Given the description of an element on the screen output the (x, y) to click on. 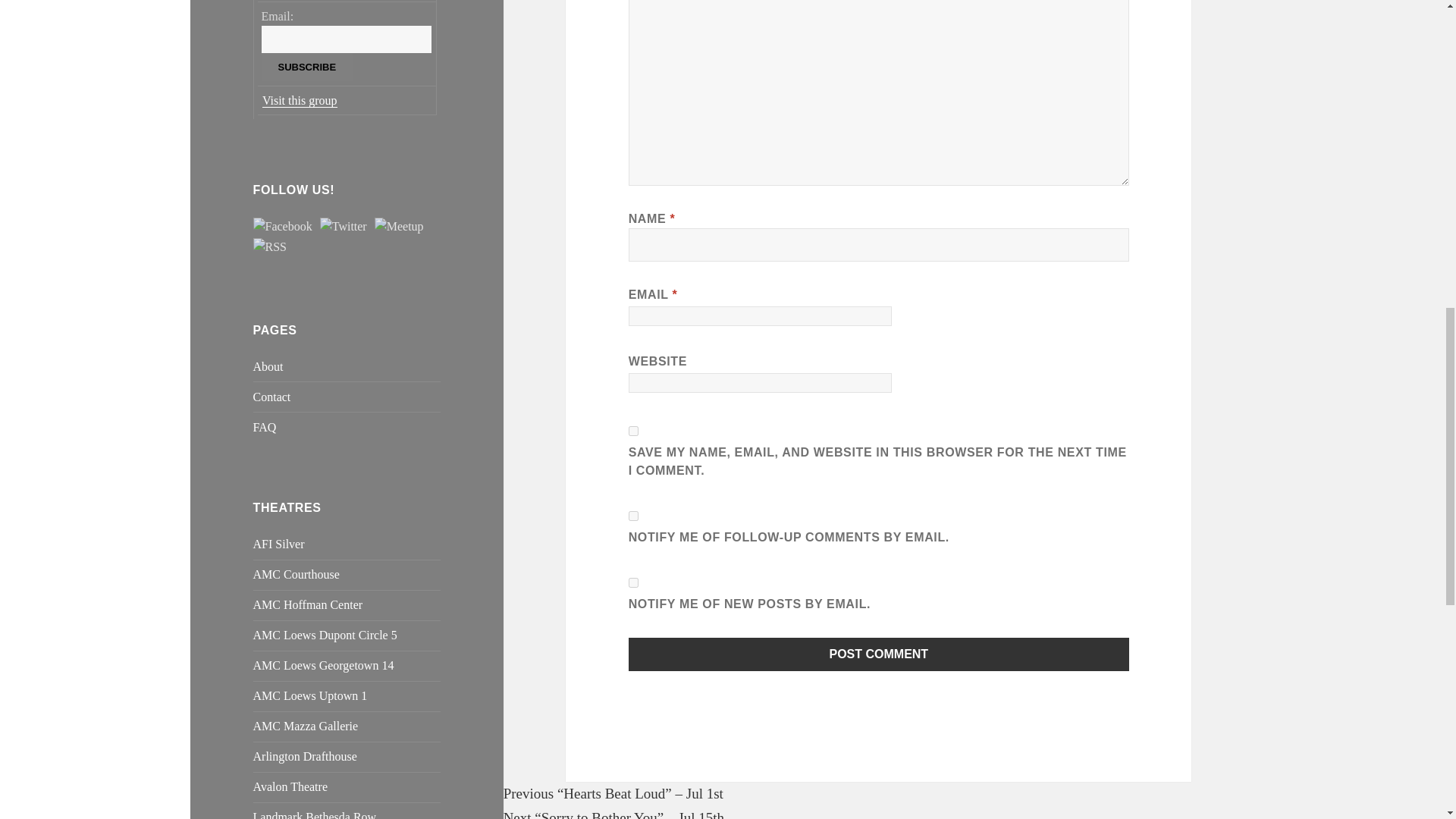
 Meetup (398, 226)
AMC Mazza Gallerie (305, 725)
AFI Silver (278, 543)
AMC Loews Uptown 1 (310, 695)
Landmark Bethesda Row (315, 814)
AMC Loews Georgetown 14 (323, 665)
AMC Hoffman Center (307, 604)
subscribe (633, 583)
 Facebook (283, 226)
subscribe (633, 515)
